Given the description of an element on the screen output the (x, y) to click on. 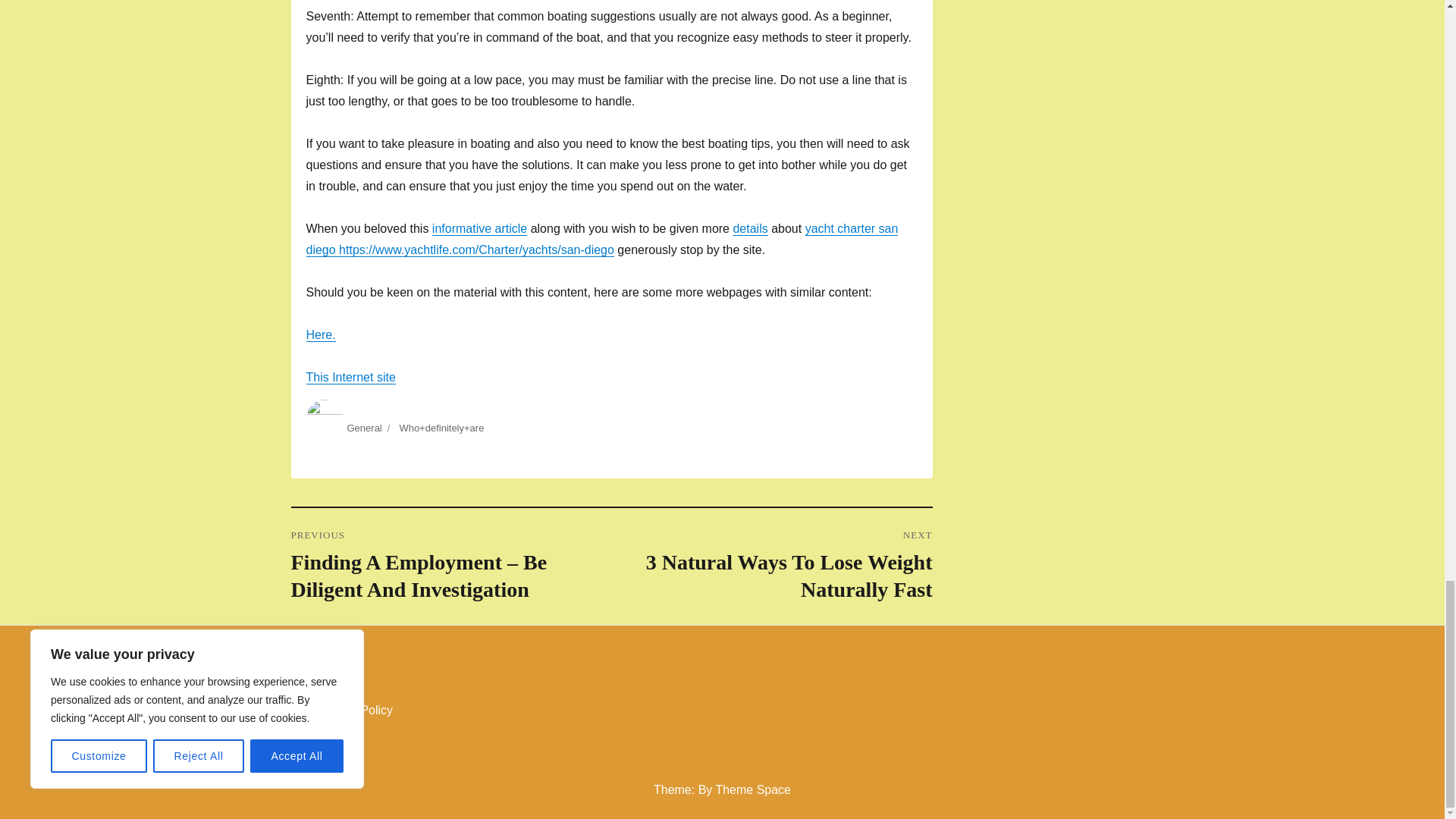
informative article (479, 228)
This Internet site (771, 565)
General (350, 377)
details (364, 428)
Here. (749, 228)
